Given the description of an element on the screen output the (x, y) to click on. 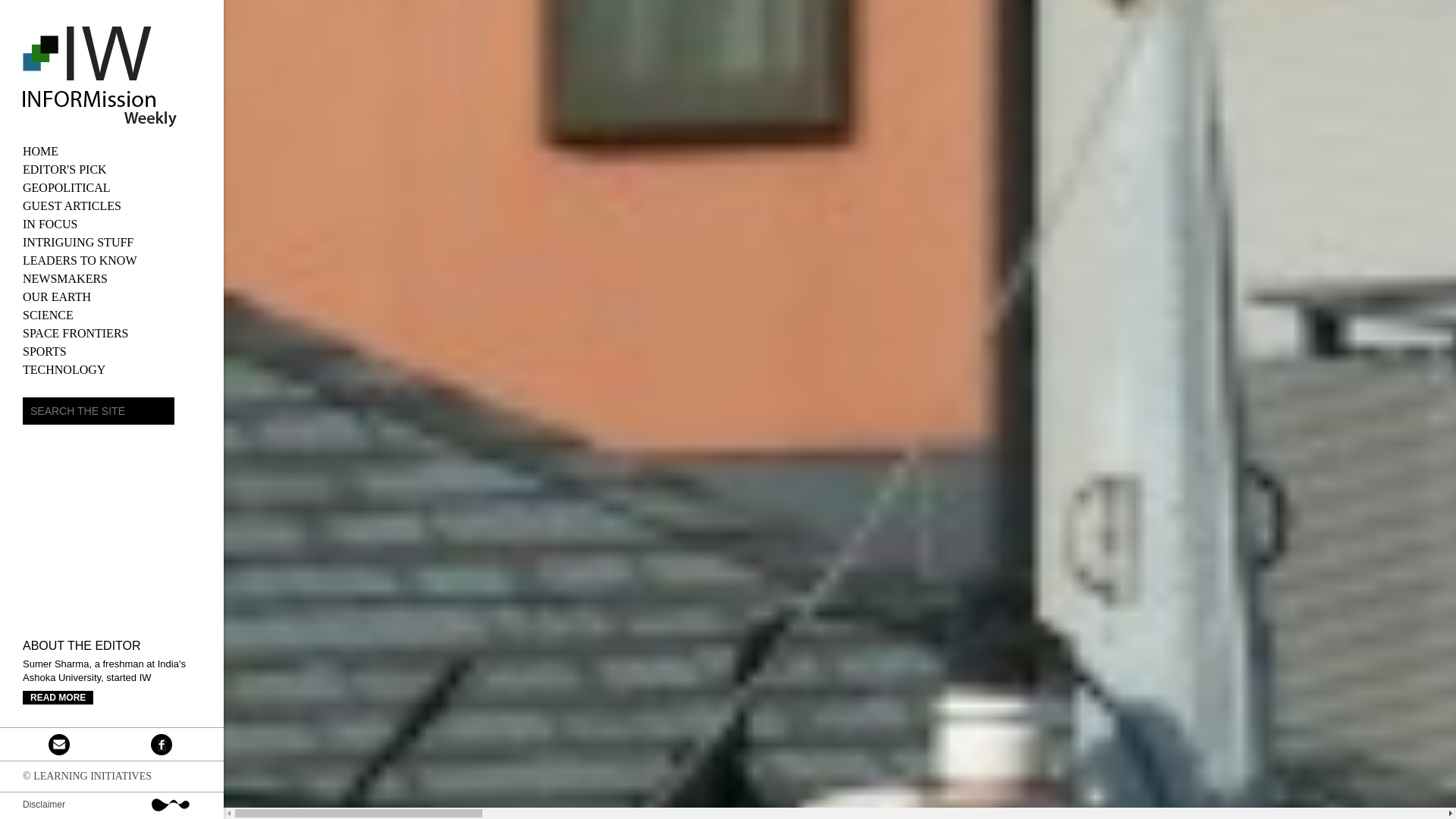
IN FOCUS (111, 224)
SCIENCE (111, 315)
NEWSMAKERS (111, 279)
Disclaimer (44, 804)
INTRIGUING STUFF (111, 242)
LEADERS TO KNOW (111, 260)
EDITOR'S PICK (111, 169)
SPACE FRONTIERS (111, 333)
GUEST ARTICLES (111, 206)
TECHNOLOGY (111, 370)
OUR EARTH (111, 297)
READ MORE (58, 697)
HOME (111, 151)
GEOPOLITICAL (111, 188)
SPORTS (111, 352)
